Given the description of an element on the screen output the (x, y) to click on. 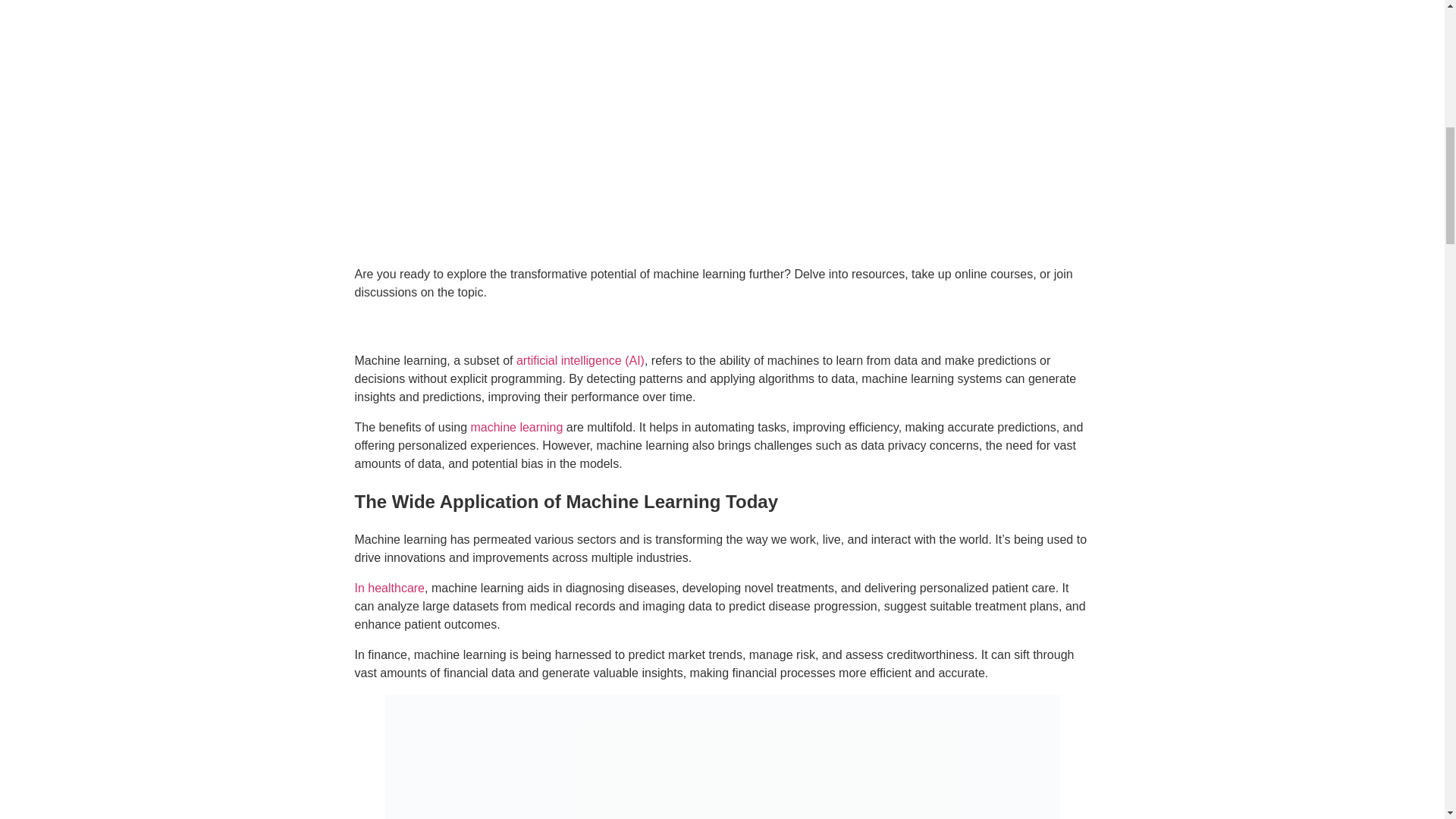
machine learning (516, 427)
In healthcare (390, 587)
